Given the description of an element on the screen output the (x, y) to click on. 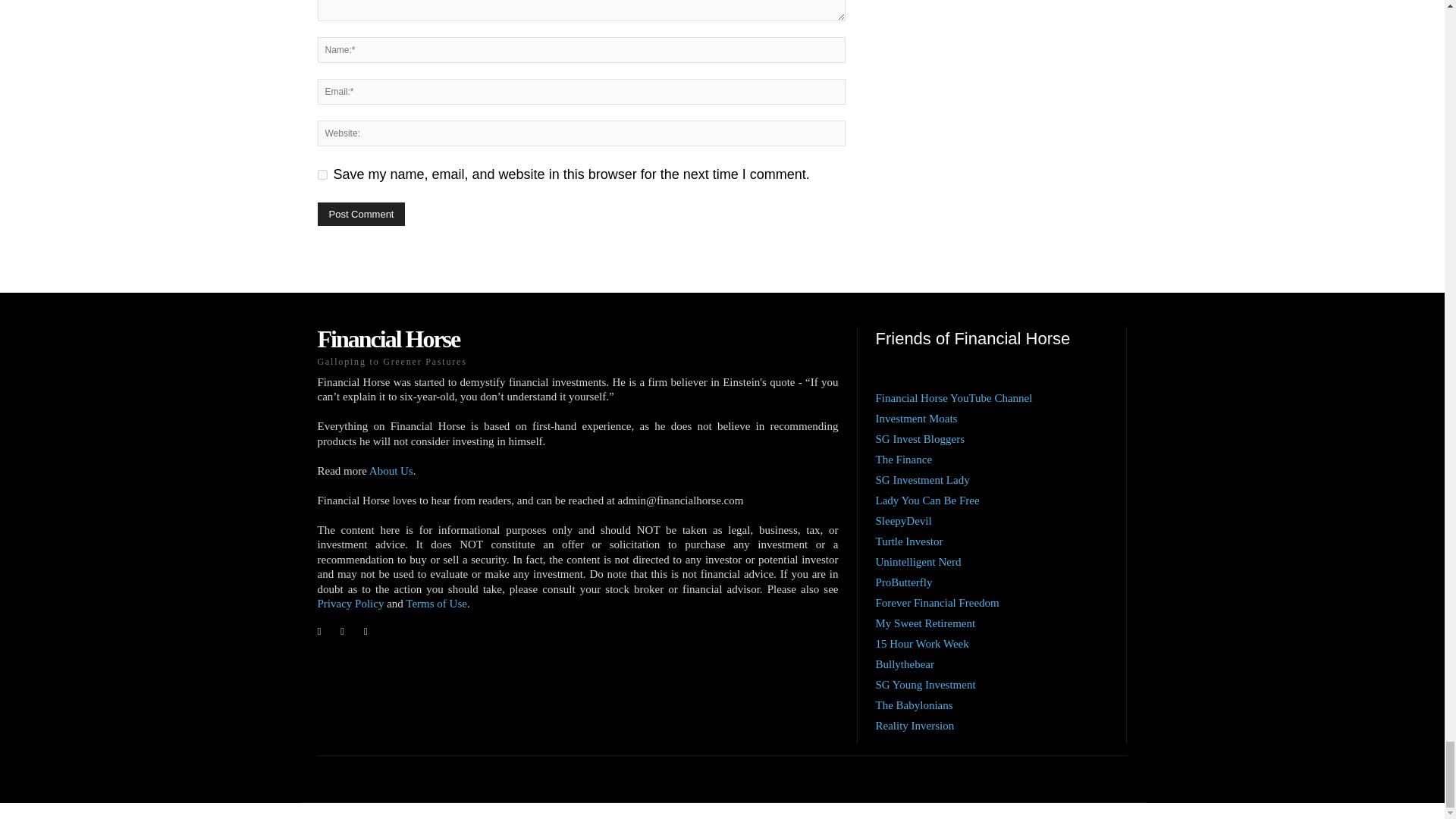
Instagram (342, 631)
Facebook (318, 631)
Twitter (366, 631)
Post Comment (360, 214)
yes (321, 174)
